Given the description of an element on the screen output the (x, y) to click on. 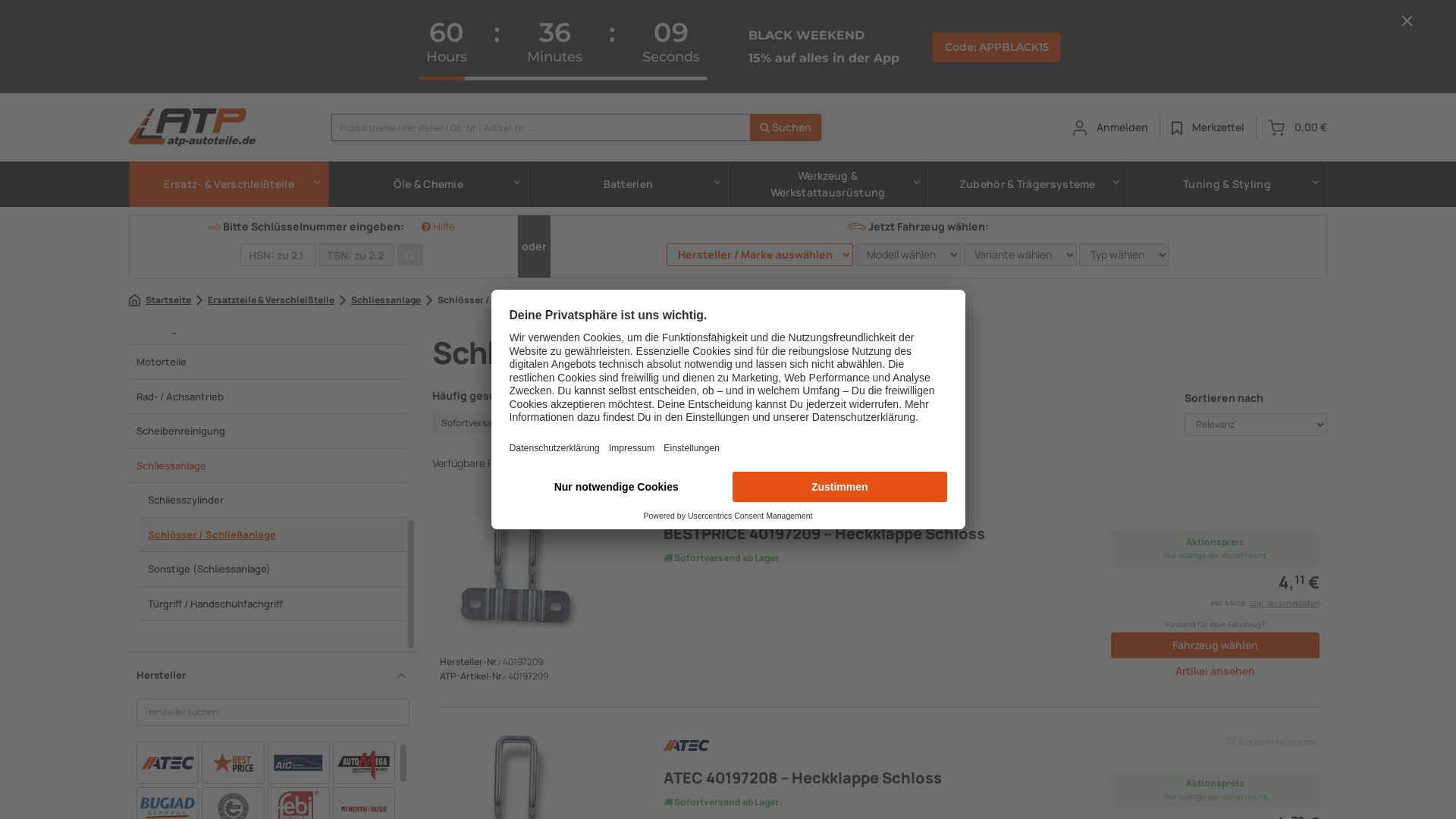
ATP Autoteile Element type: hover (191, 127)
Klimaanlage Element type: text (266, 189)
Lenkung Element type: text (266, 327)
Startseite Element type: text (159, 300)
Kraftstoffversorgung Element type: text (266, 224)
Batterien Element type: text (627, 184)
Schliessanlage Element type: text (379, 300)
Hilfe Element type: text (438, 226)
Tuning & Styling Element type: text (1226, 184)
Schliesszylinder Element type: text (272, 500)
Karosserieteile Element type: text (266, 155)
Scheibenreinigung Element type: text (266, 431)
ATP Autoteile Element type: hover (1176, 127)
AIC Element type: hover (297, 762)
Suchen Element type: text (785, 127)
Filter Element type: text (266, 86)
Rad- / Achsantrieb Element type: text (266, 396)
ATEC Element type: hover (167, 762)
AUTOMEGA Element type: hover (363, 762)
ATP Autoteile Element type: hover (1275, 127)
Anmelden Element type: text (1110, 127)
Motorteile Element type: text (266, 362)
ATP Autoteile Element type: hover (1079, 127)
Schliessanlage Element type: text (266, 465)
Merkzettel Element type: text (1207, 126)
Elektrik Element type: text (266, 17)
Code: APPBLACK15 Element type: text (995, 46)
BESTPRICE Element type: hover (232, 762)
Kupplung / Getriebe Element type: text (266, 293)
Sonstige (Schliessanlage) Element type: text (272, 569)
